Given the description of an element on the screen output the (x, y) to click on. 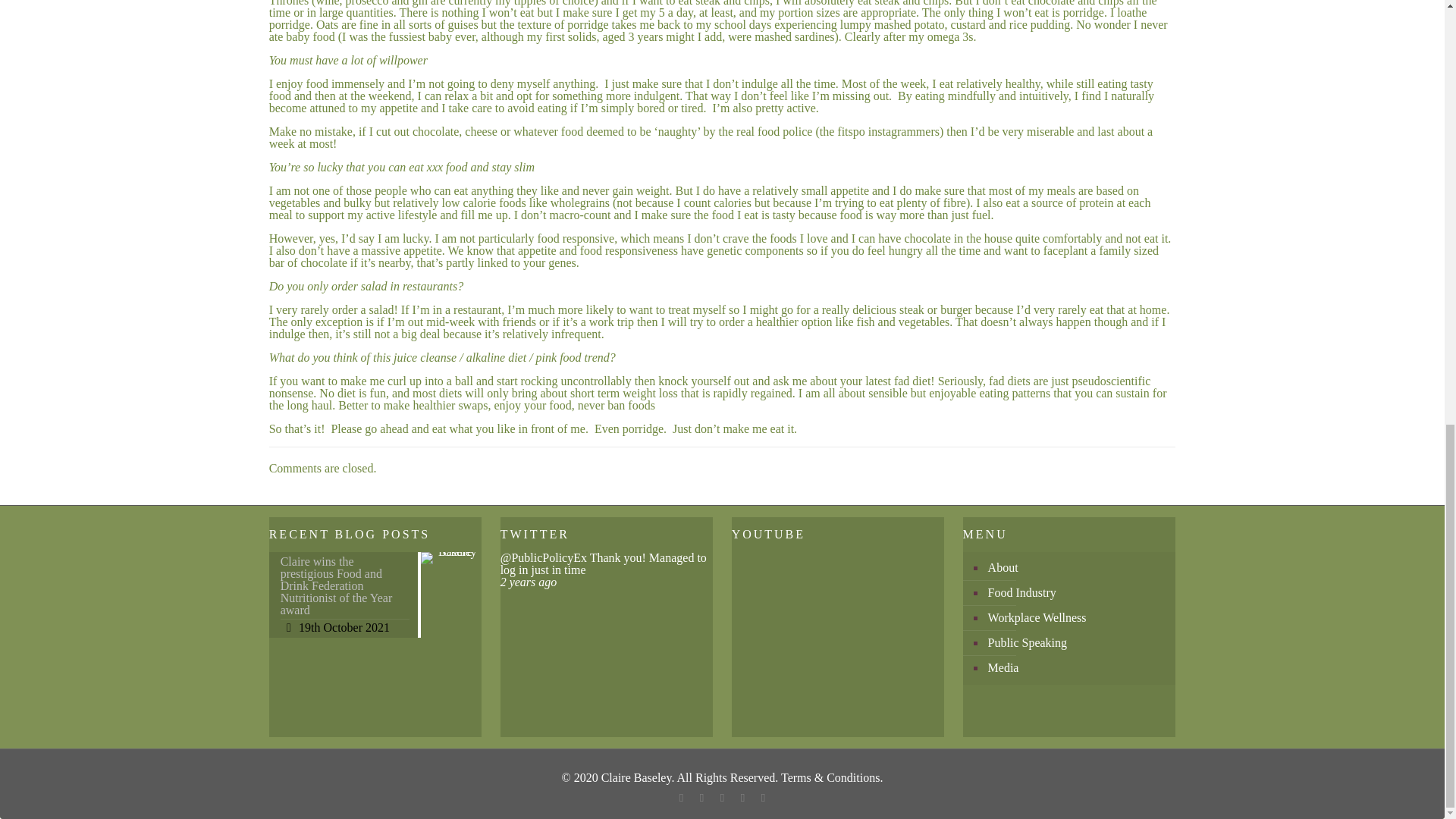
LinkedIn (743, 797)
Instagram (763, 797)
Workplace Wellness (1077, 618)
2 years ago (528, 581)
Food Industry (1077, 593)
Media (1077, 668)
YouTube (722, 797)
Public Speaking (1077, 643)
Twitter (702, 797)
About (1077, 568)
Facebook (680, 797)
